Given the description of an element on the screen output the (x, y) to click on. 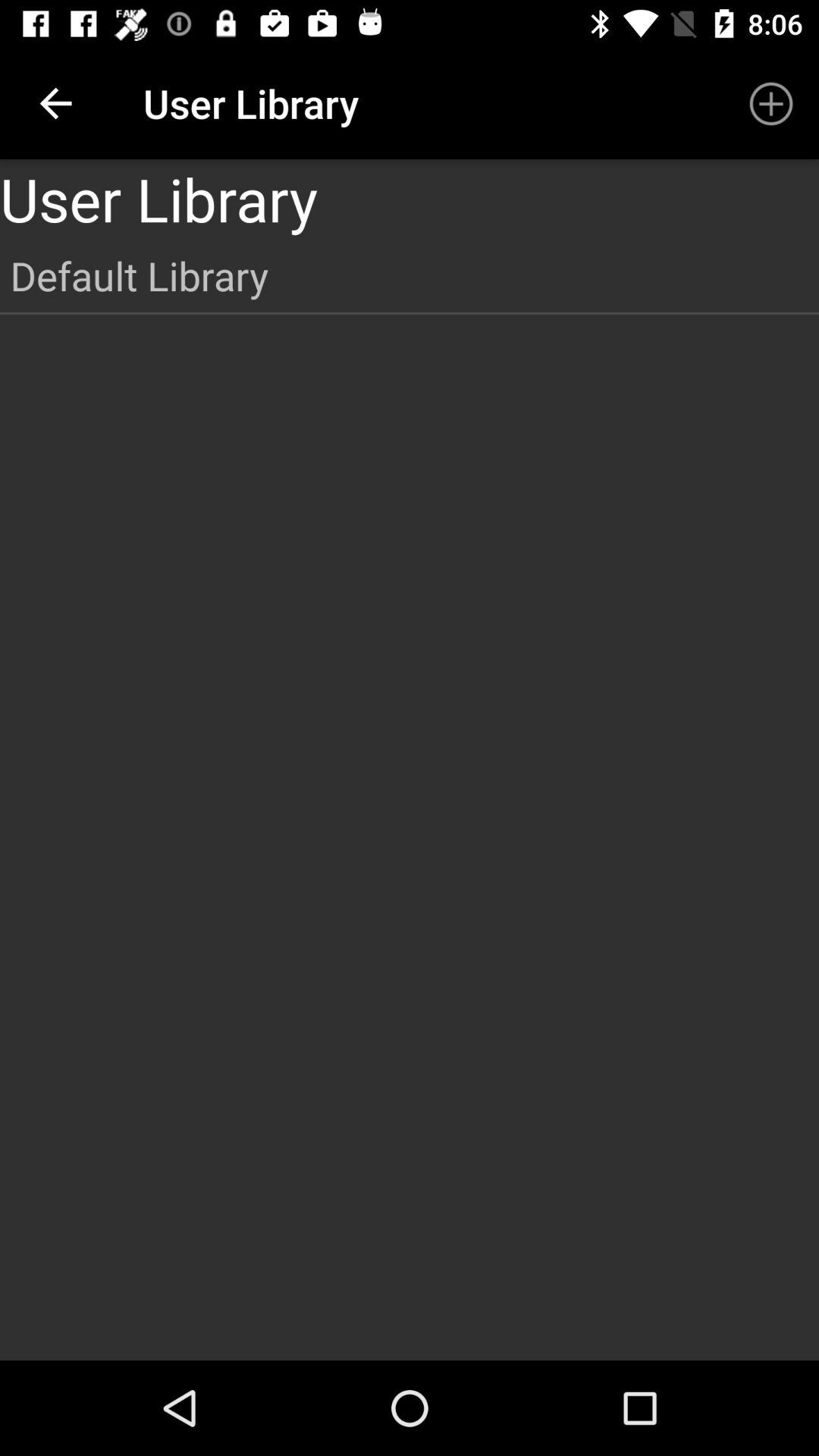
select the icon above user library (771, 103)
